Given the description of an element on the screen output the (x, y) to click on. 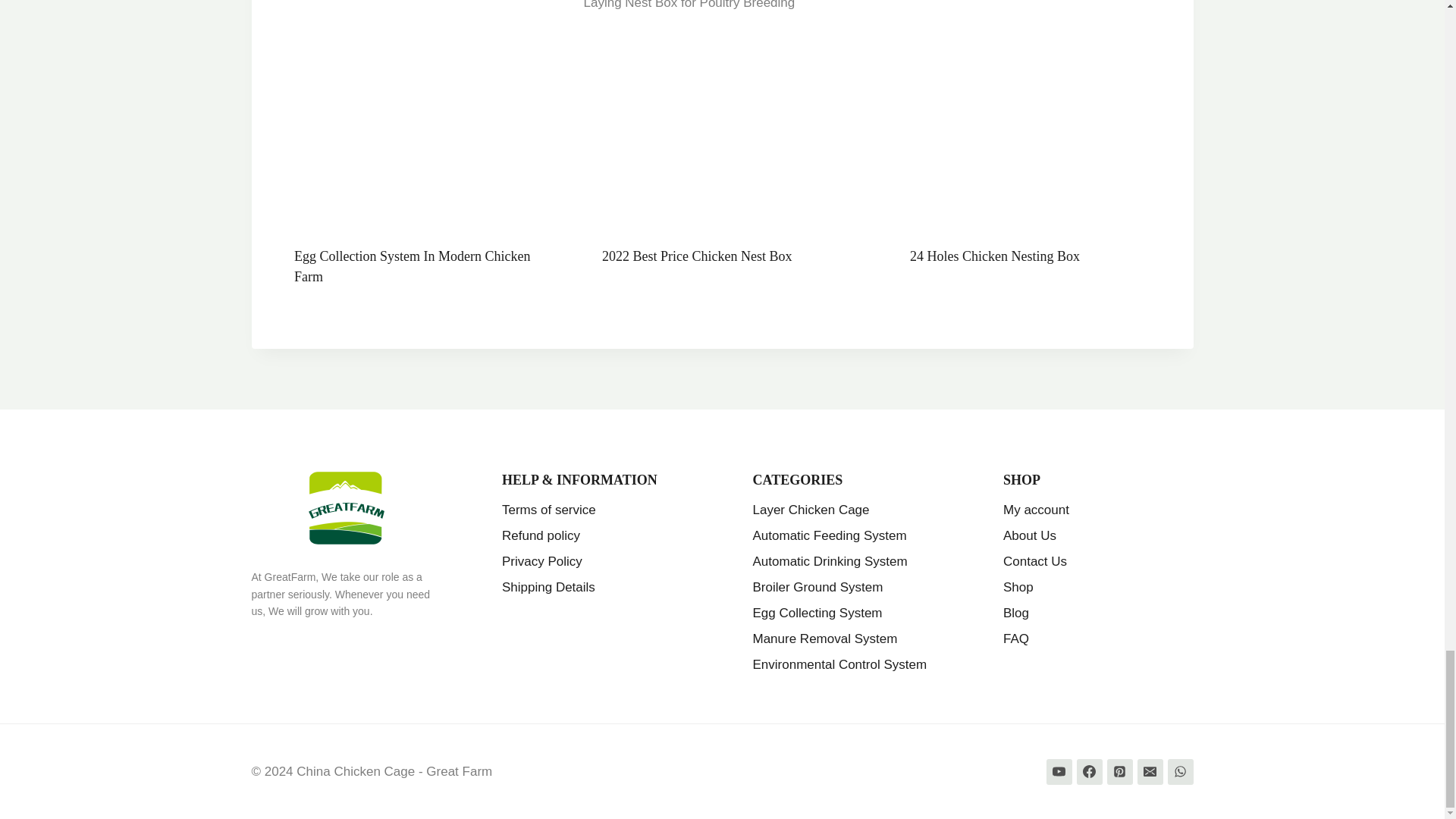
egg collection - China Chicken Cage - Great Farm (414, 114)
